Given the description of an element on the screen output the (x, y) to click on. 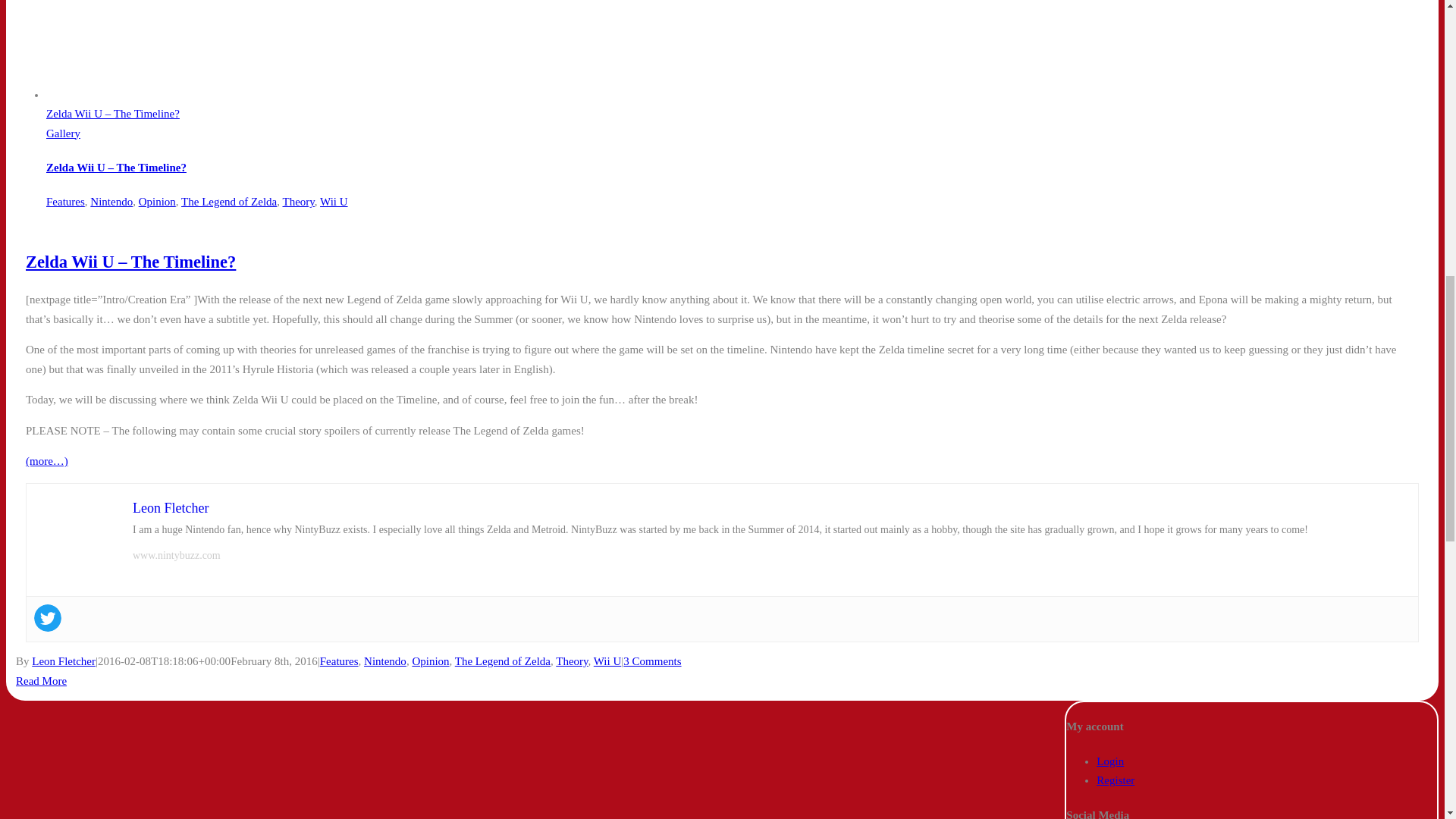
Nintendo (111, 201)
Features (65, 201)
Twitter (47, 617)
Opinion (157, 201)
Gallery (63, 133)
Posts by Leon Fletcher (64, 661)
